Given the description of an element on the screen output the (x, y) to click on. 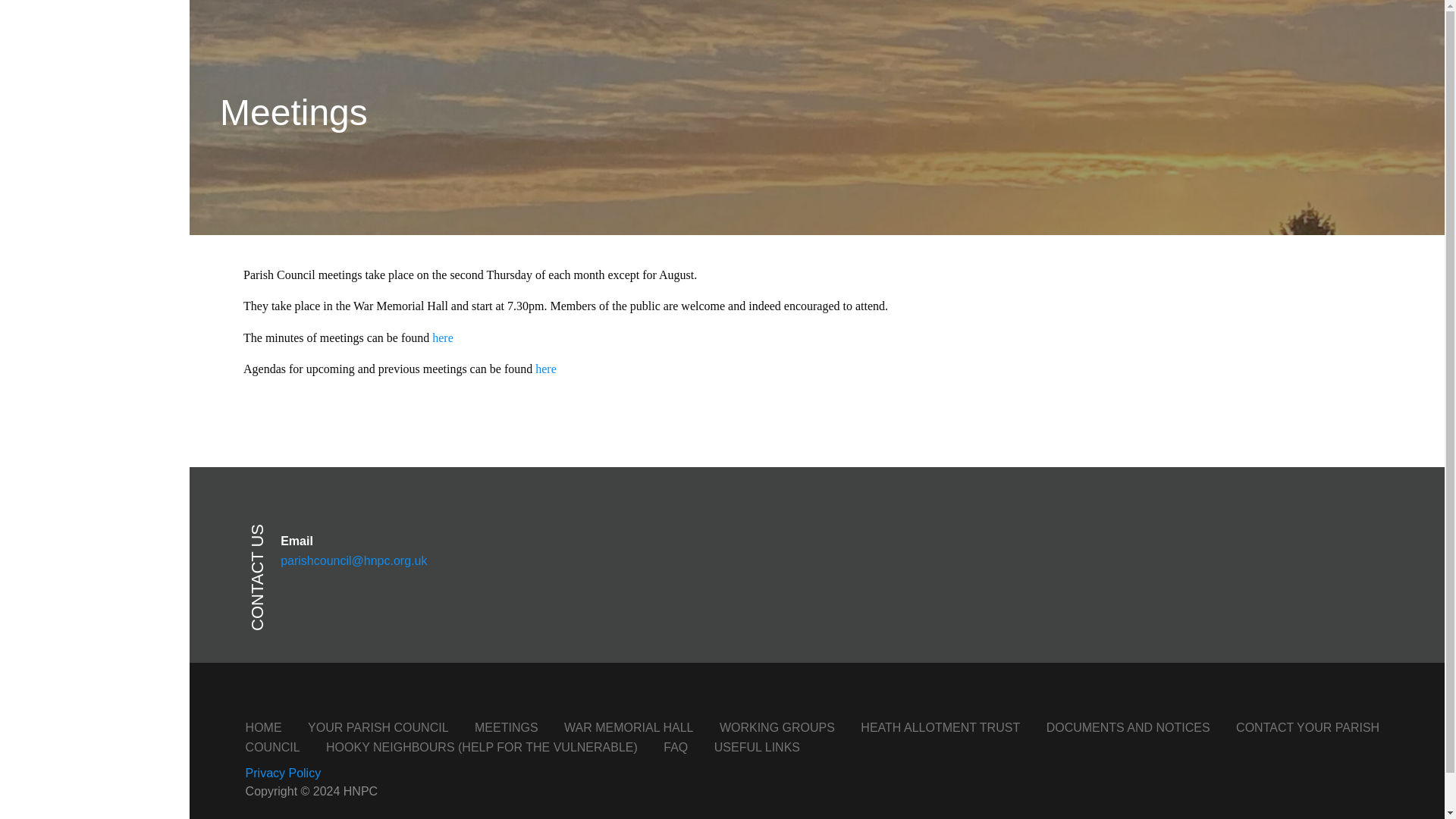
here (545, 368)
WORKING GROUPS (776, 727)
HOME (264, 727)
WAR MEMORIAL HALL (628, 727)
here (442, 337)
MEETINGS (506, 727)
YOUR PARISH COUNCIL (377, 727)
